Given the description of an element on the screen output the (x, y) to click on. 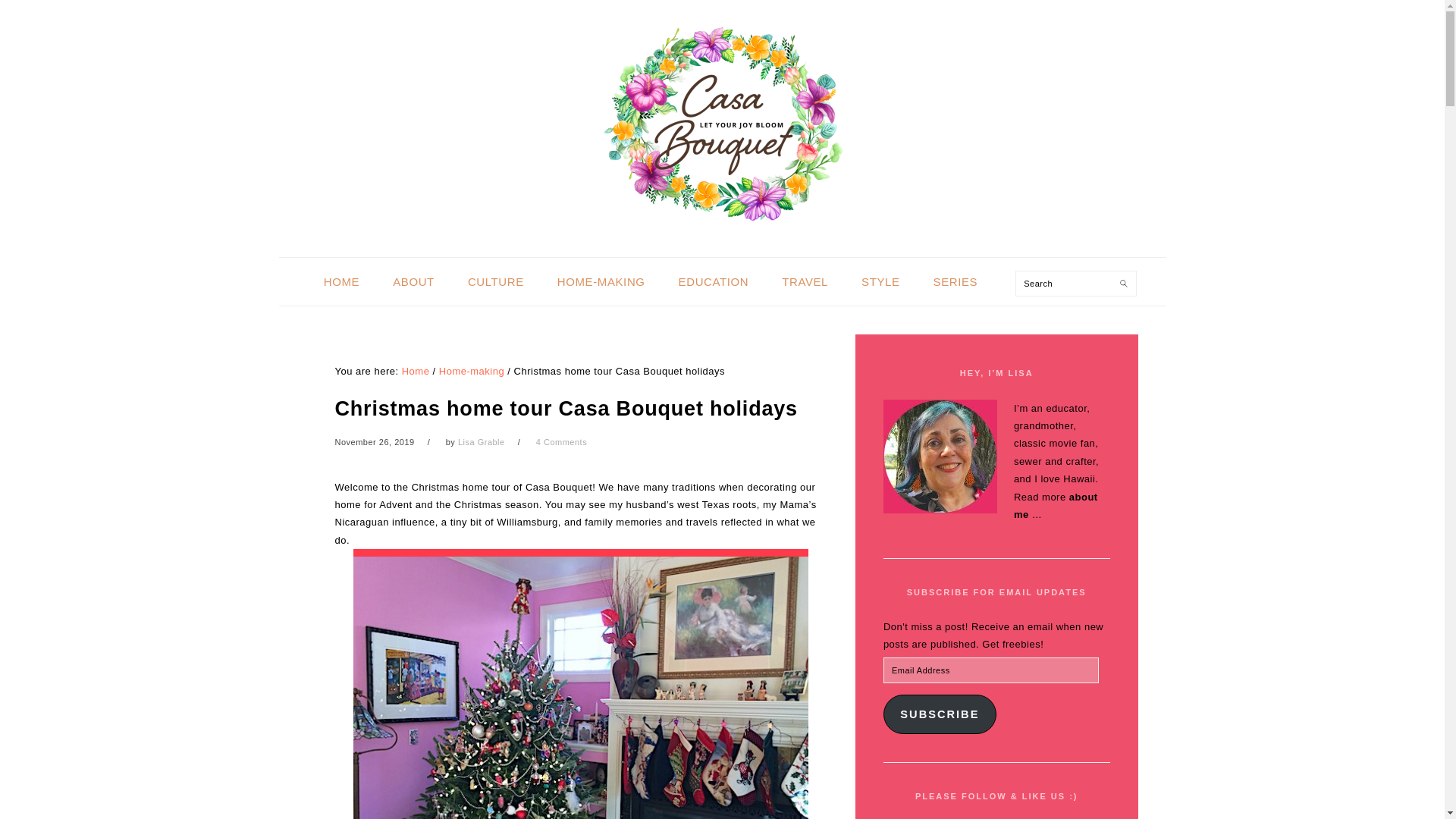
ABOUT (413, 281)
HOME (341, 281)
4 Comments (560, 441)
Home (415, 370)
SERIES (955, 281)
Lisa Grable (481, 441)
STYLE (880, 281)
TRAVEL (804, 281)
EDUCATION (713, 281)
CASA BOUQUET (721, 123)
Home-making (471, 370)
